Given the description of an element on the screen output the (x, y) to click on. 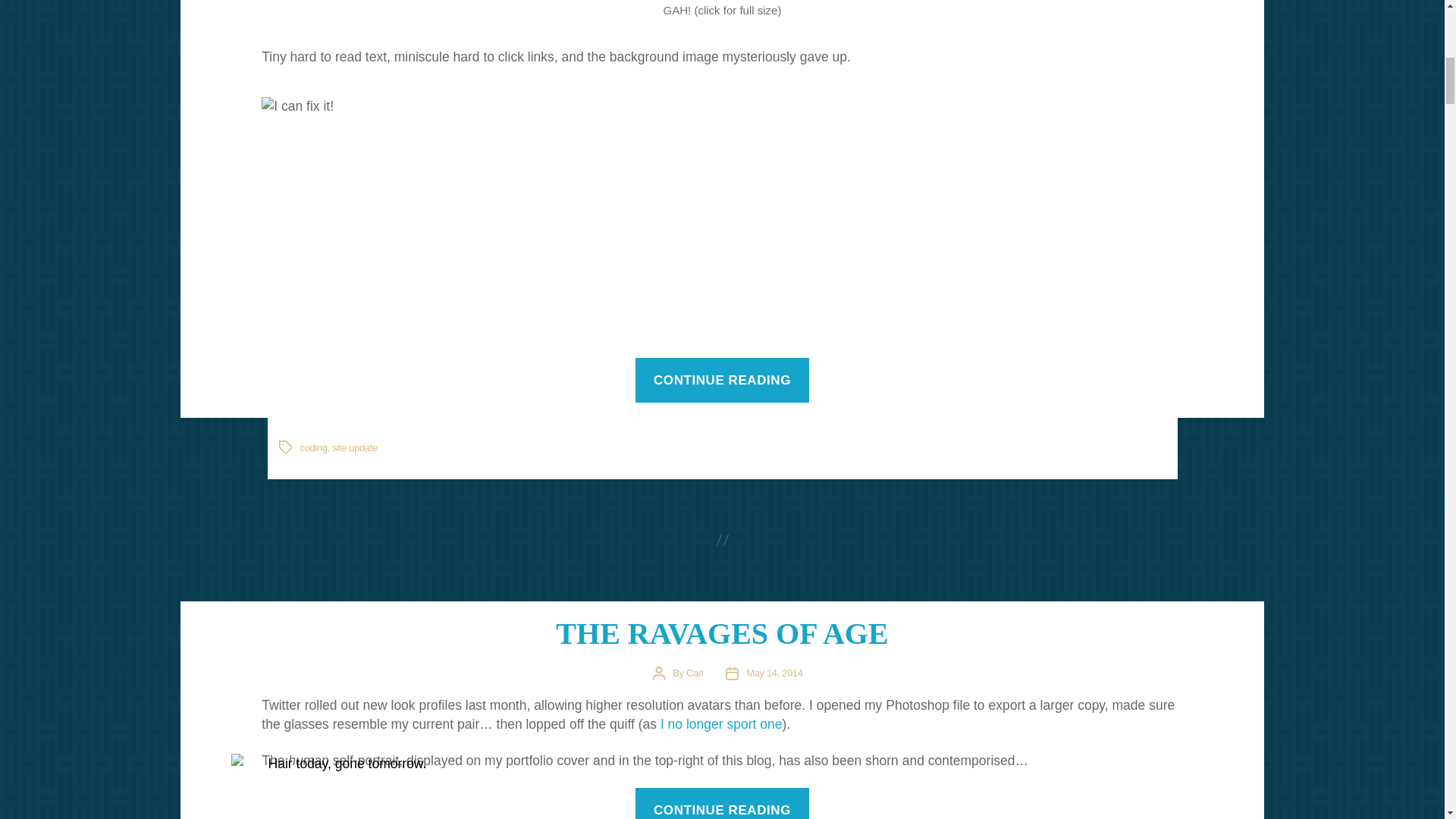
coding (313, 447)
THE RAVAGES OF AGE (722, 633)
Carl (694, 672)
site update (354, 447)
I no longer sport one (722, 724)
May 14, 2014 (773, 672)
